Given the description of an element on the screen output the (x, y) to click on. 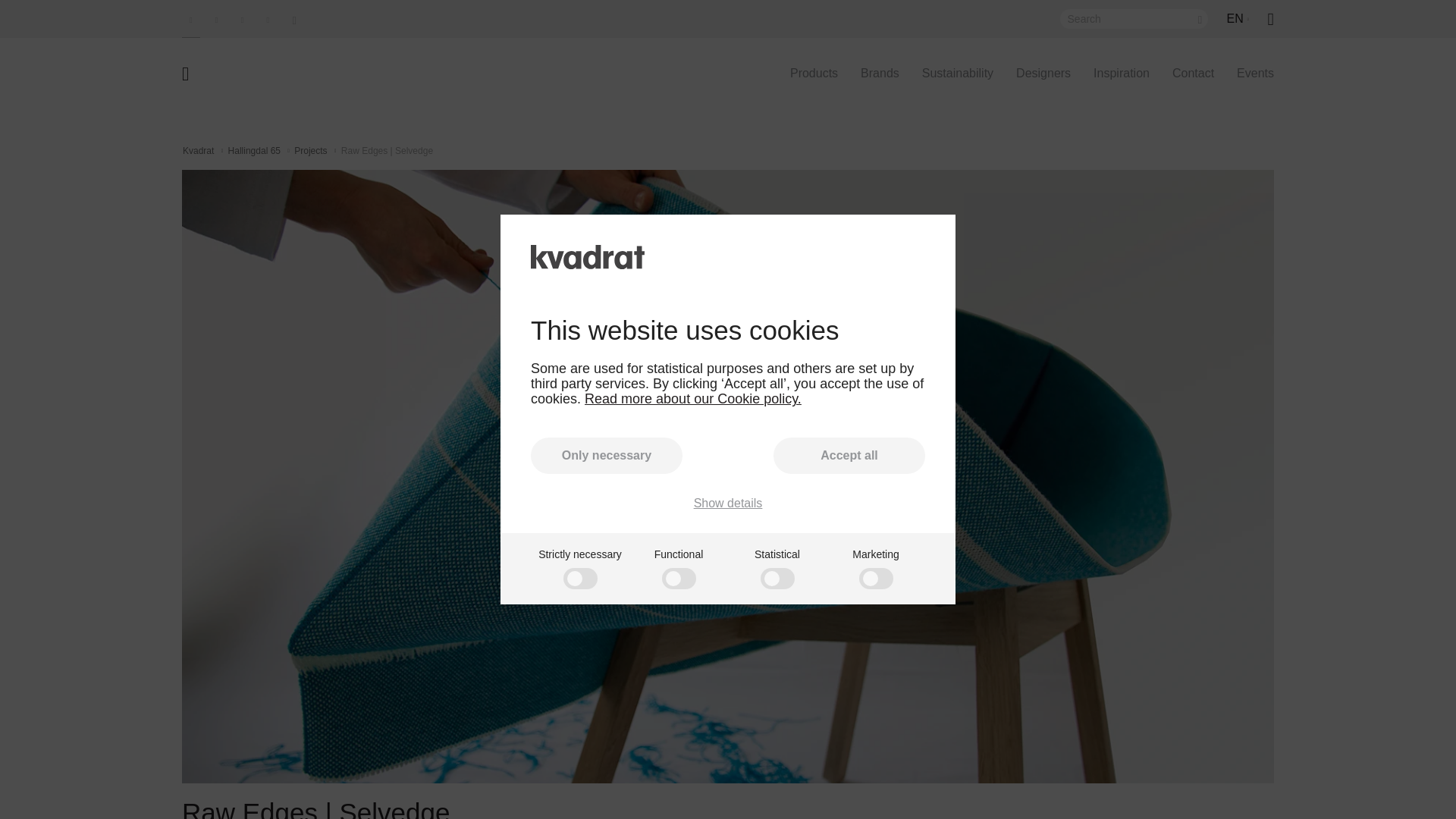
Only necessary (606, 455)
Show details (728, 503)
Read more about our Cookie policy. (693, 398)
Accept all (848, 455)
